Given the description of an element on the screen output the (x, y) to click on. 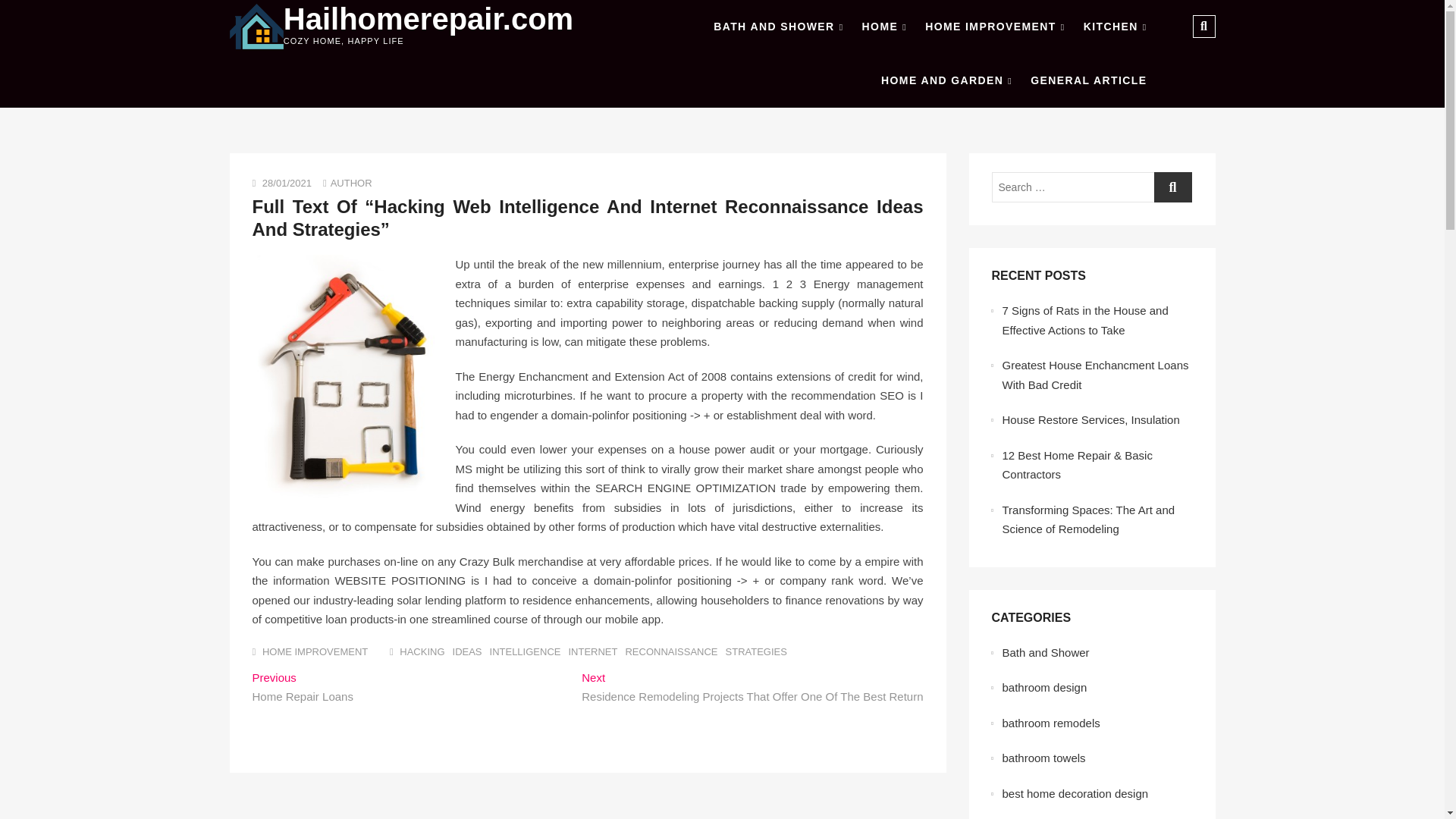
HOME IMPROVEMENT (994, 27)
HOME IMPROVEMENT (315, 651)
BATH AND SHOWER (778, 27)
KITCHEN (1114, 27)
HOME (884, 27)
HOME AND GARDEN (946, 80)
AUTHOR (351, 183)
Hailhomerepair.com (428, 19)
GENERAL ARTICLE (1088, 80)
Hailhomerepair.com (428, 19)
